Given the description of an element on the screen output the (x, y) to click on. 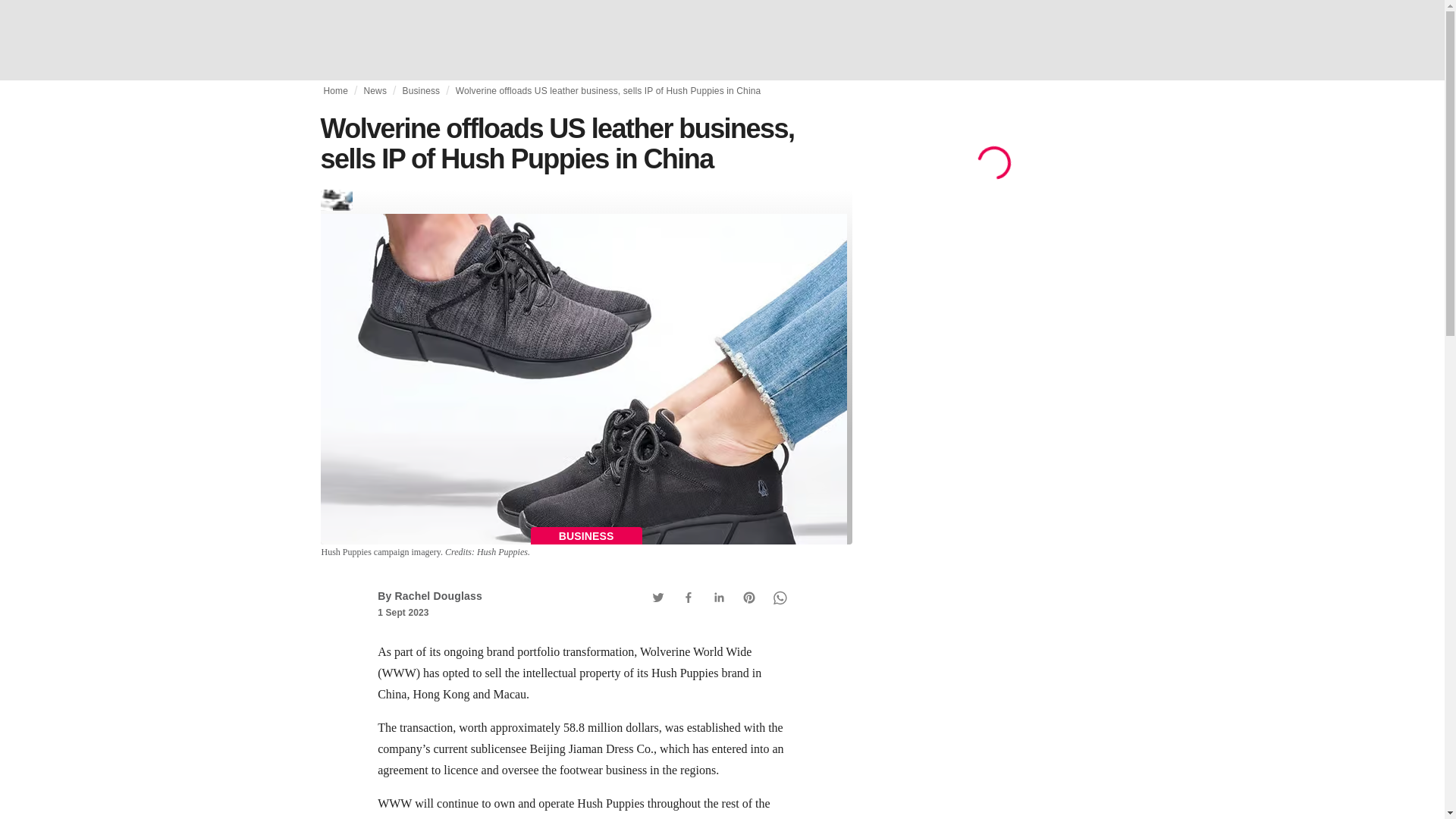
By Rachel Douglass (429, 595)
Home (335, 90)
Business (420, 90)
News (375, 90)
